Given the description of an element on the screen output the (x, y) to click on. 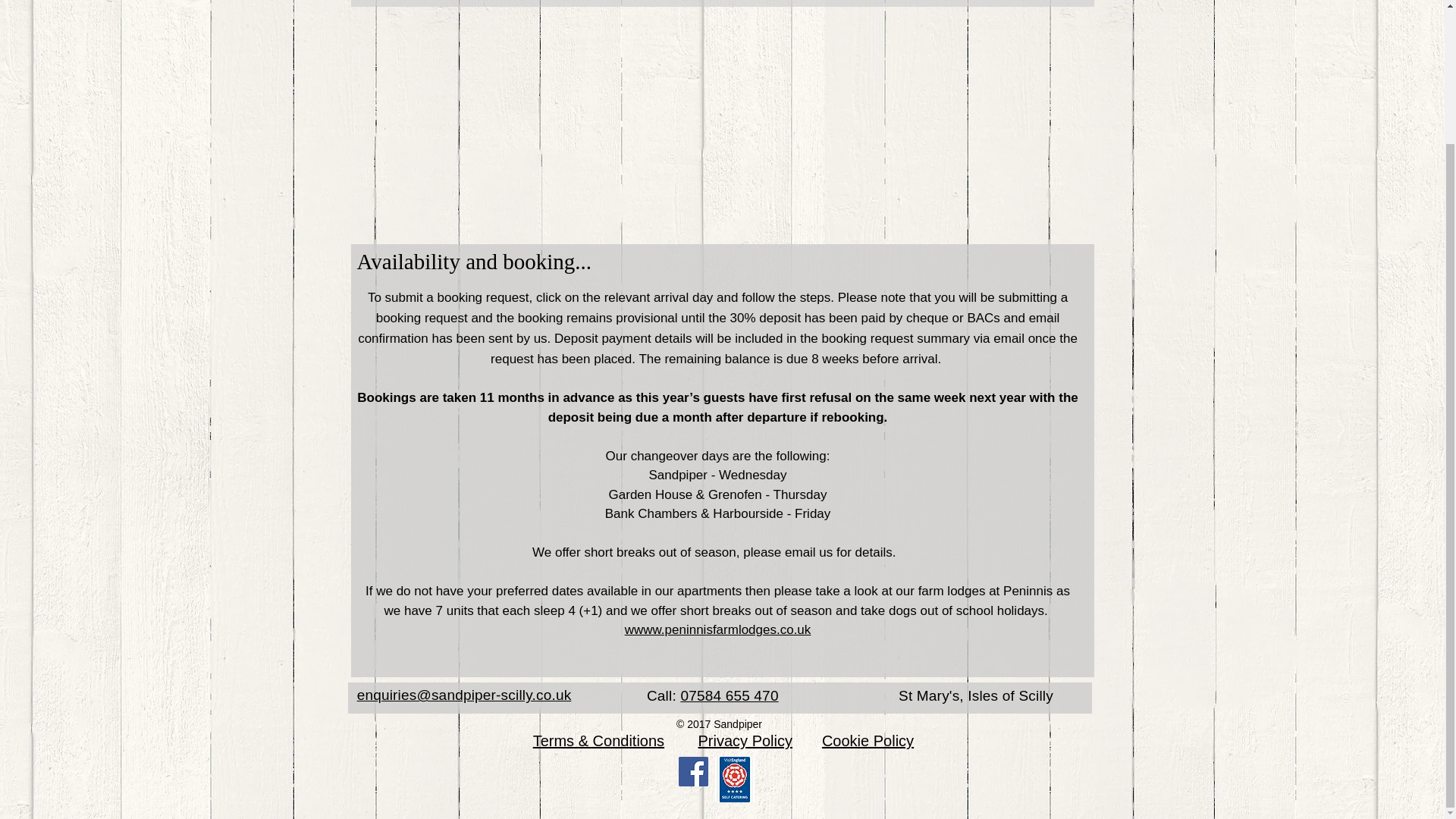
Privacy Policy (745, 740)
The islands (772, 3)
The apartments (634, 3)
Home (399, 3)
wwww.peninnisfarmlodges.co.uk (717, 629)
Contact us (1034, 3)
Special offers (903, 3)
Cookie Policy (868, 740)
About us (503, 3)
